Given the description of an element on the screen output the (x, y) to click on. 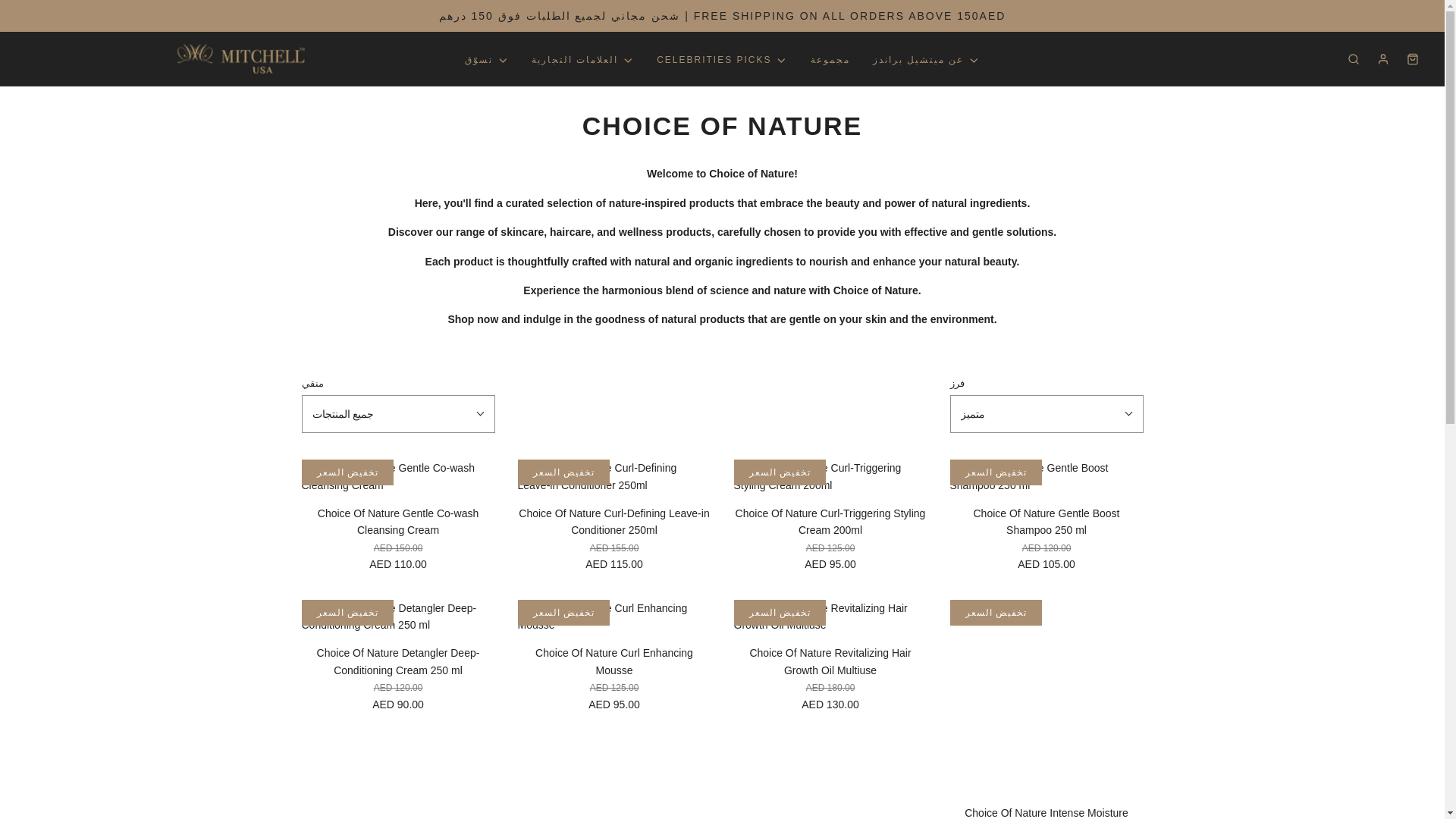
Choice Of Nature Curl Enhancing Mousse (613, 616)
Choice Of Nature Curl-Defining Leave-in Conditioner 250ml (613, 476)
Choice Of Nature Gentle Boost Shampoo 250 ml (1045, 481)
Choice Of Nature Curl-Triggering Styling Cream 200ml (830, 477)
Choice Of Nature Gentle Co-wash Cleansing Cream (398, 476)
Choice Of Nature Revitalizing Hair Growth Oil Multiuse (830, 616)
Choice Of Nature Intense Moisture Leave-In Cream 250 ml (1045, 698)
Search (1423, 6)
Choice Of Nature Detangler Deep-Conditioning Cream 250 ml (398, 616)
